Given the description of an element on the screen output the (x, y) to click on. 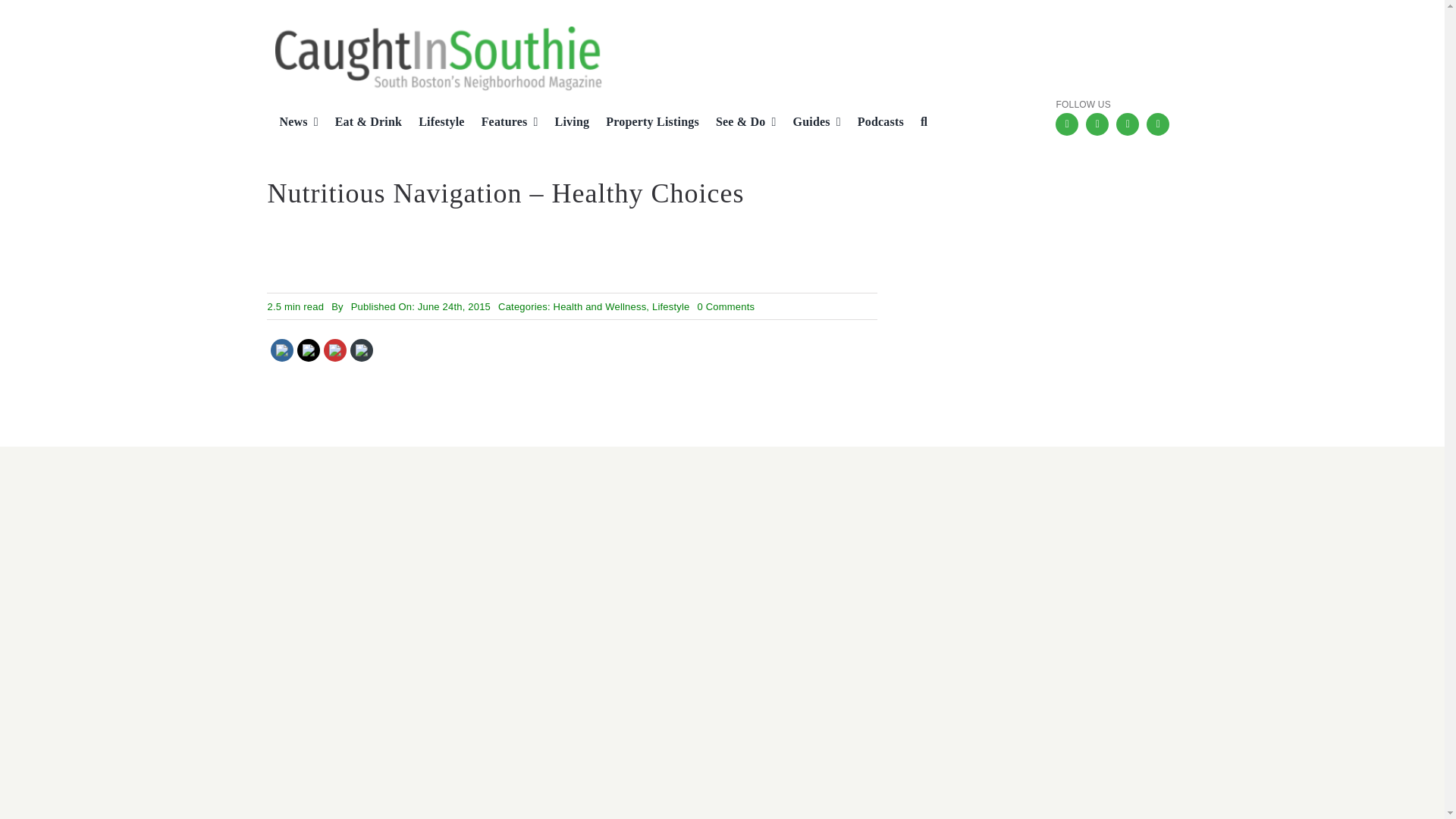
Property Listings (646, 122)
Podcasts (874, 122)
Lifestyle (435, 122)
Twitter (1127, 124)
News (291, 122)
Pinterest (335, 350)
Facebook (282, 350)
Living (566, 122)
Twitter (308, 350)
Facebook (1066, 124)
Guides (810, 122)
Instagram (1097, 124)
Spotify (1158, 124)
Features (503, 122)
Follow by Email (361, 350)
